Given the description of an element on the screen output the (x, y) to click on. 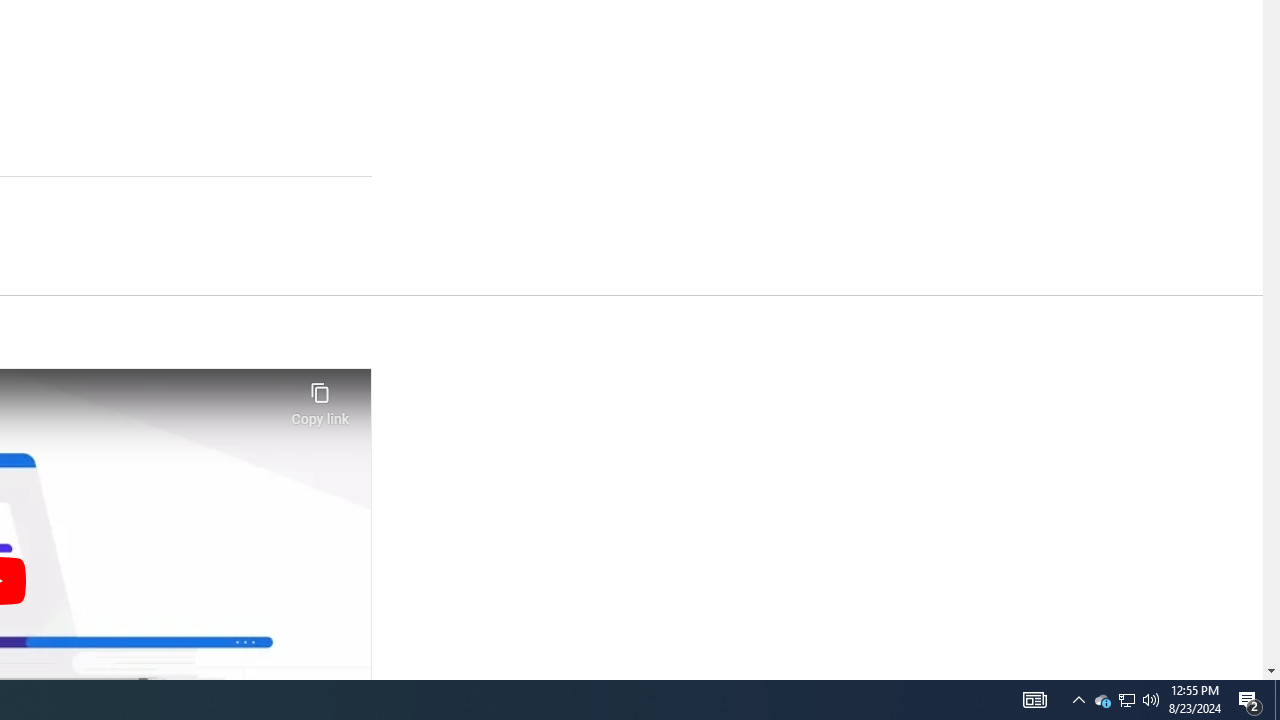
Copy link (319, 398)
